Given the description of an element on the screen output the (x, y) to click on. 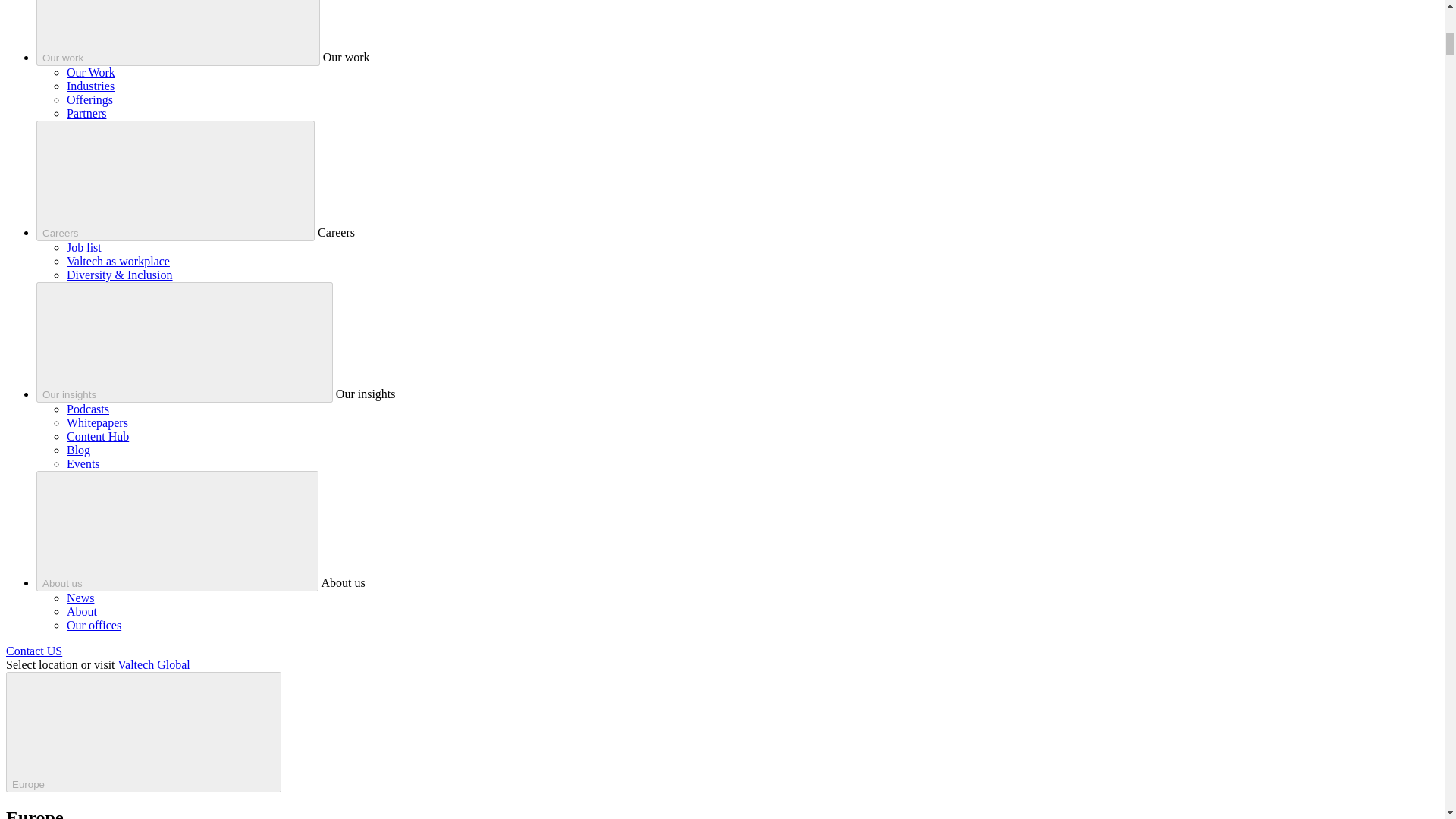
Content Hub (97, 436)
About (81, 611)
Events (83, 463)
Valtech as workplace (118, 260)
Job list (83, 246)
Blog (78, 449)
Partners (86, 113)
Industries (90, 85)
Our work (178, 33)
Valtech Global (153, 664)
